Given the description of an element on the screen output the (x, y) to click on. 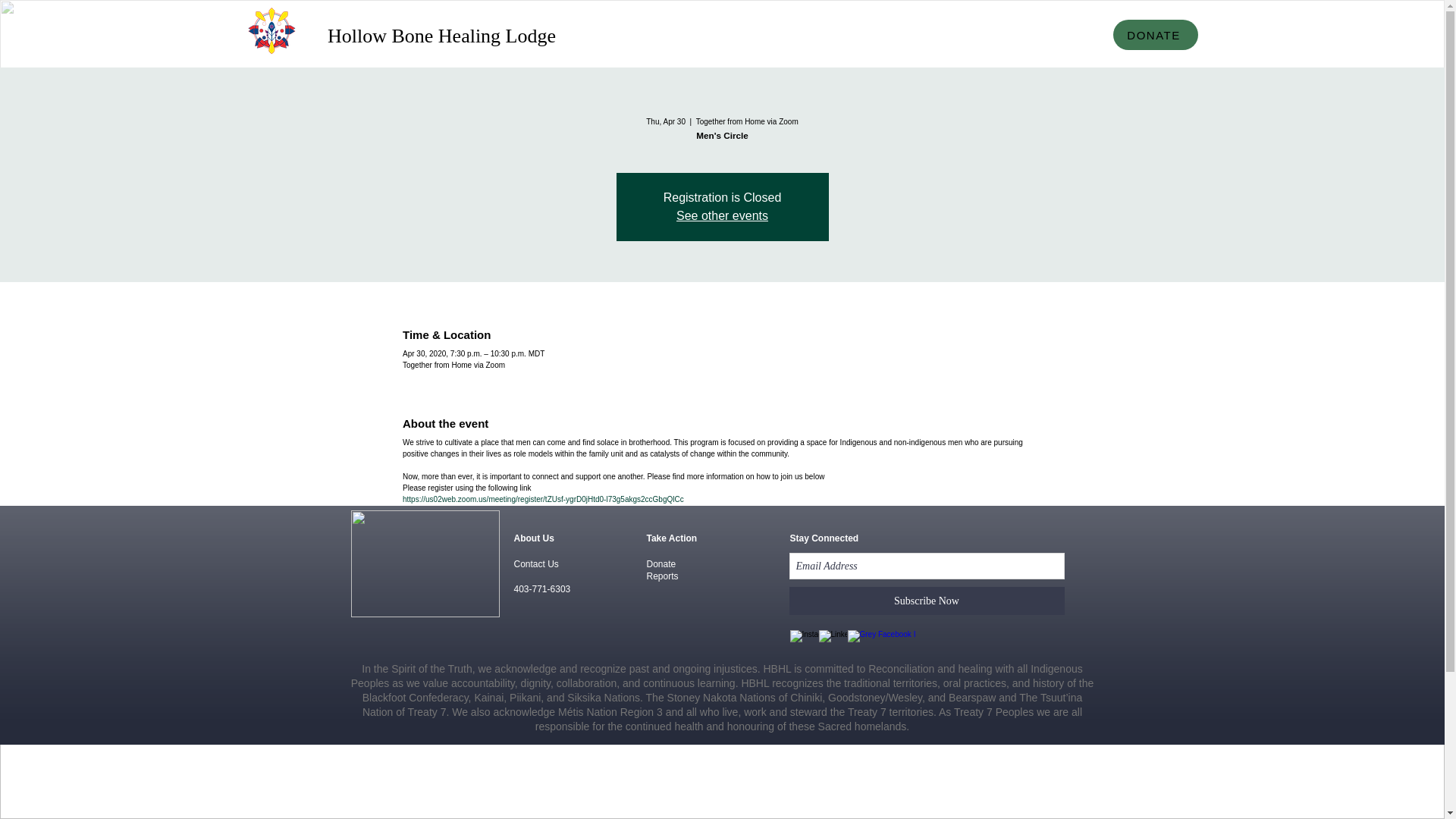
Hollow Bone Healing Lodge (441, 35)
See other events (722, 215)
DONATE (1155, 34)
403-771-6303 (541, 588)
Subscribe Now (926, 601)
Donate (660, 563)
